Given the description of an element on the screen output the (x, y) to click on. 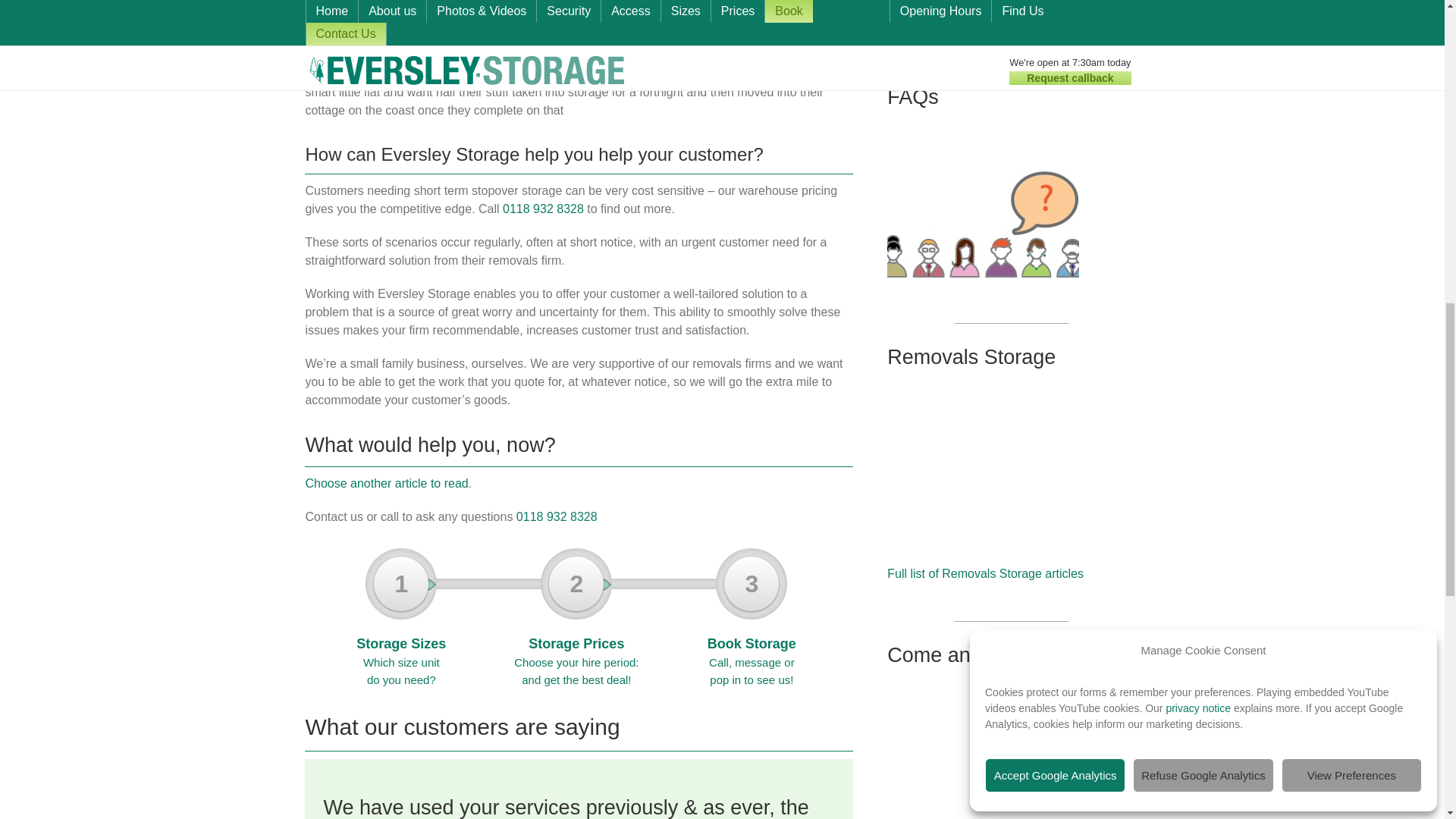
Contact Us (1010, 12)
